Given the description of an element on the screen output the (x, y) to click on. 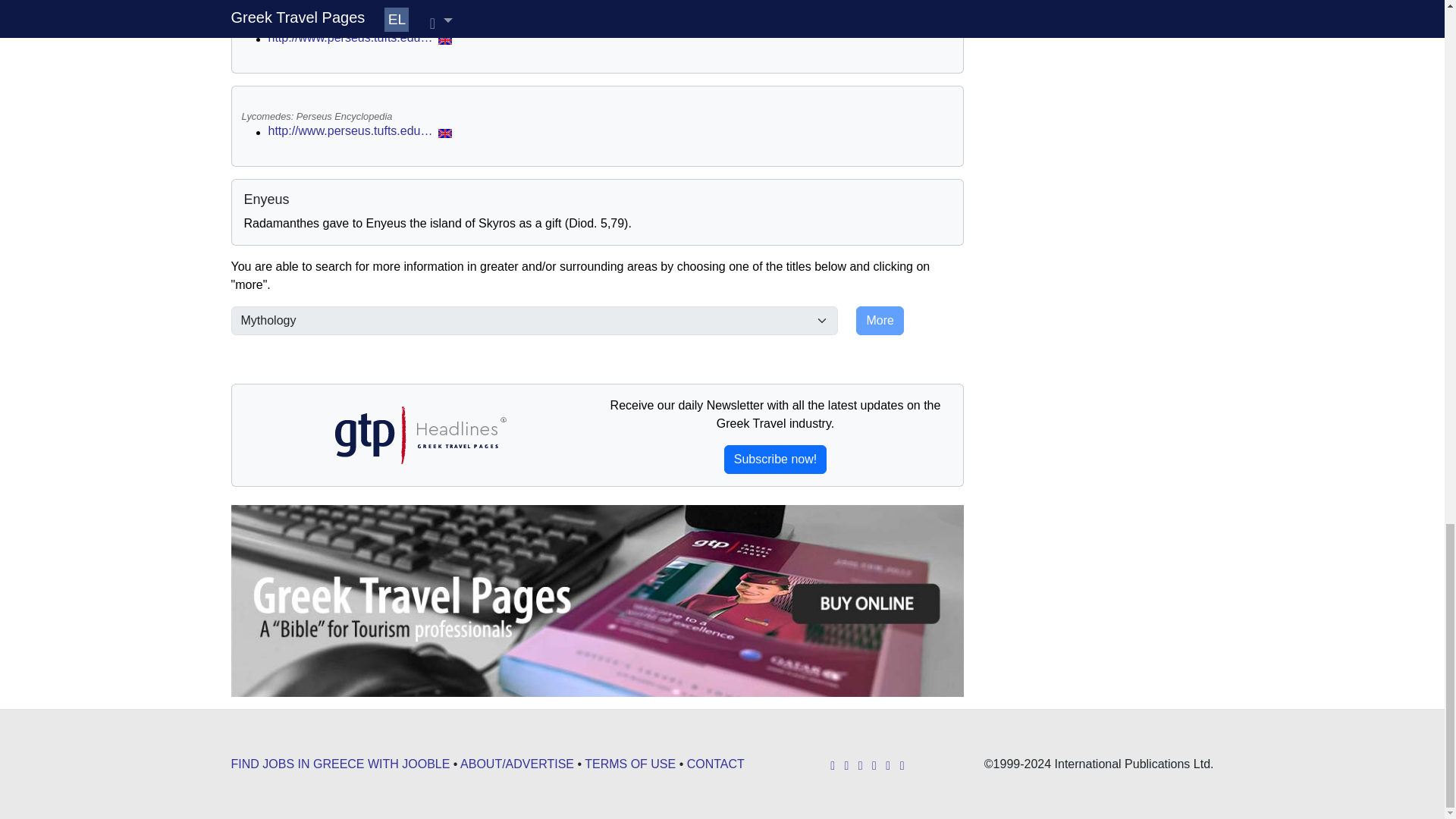
More (879, 320)
GTP Headlines (418, 434)
